Given the description of an element on the screen output the (x, y) to click on. 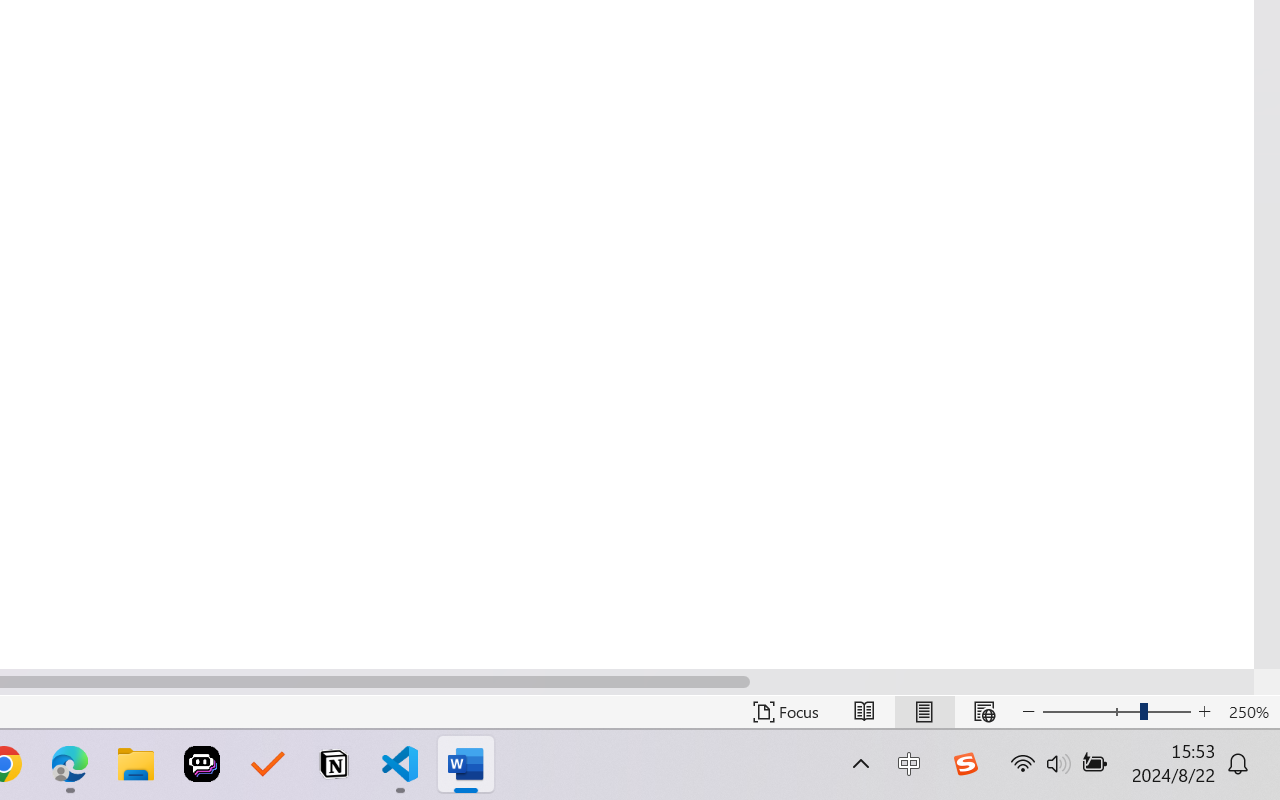
Zoom 100% (1249, 712)
Print Layout (924, 712)
Web Layout (984, 712)
Zoom In (1204, 712)
Focus  (786, 712)
Class: Image (965, 764)
Zoom (1116, 712)
Zoom Out (1077, 712)
Read Mode (864, 712)
